Given the description of an element on the screen output the (x, y) to click on. 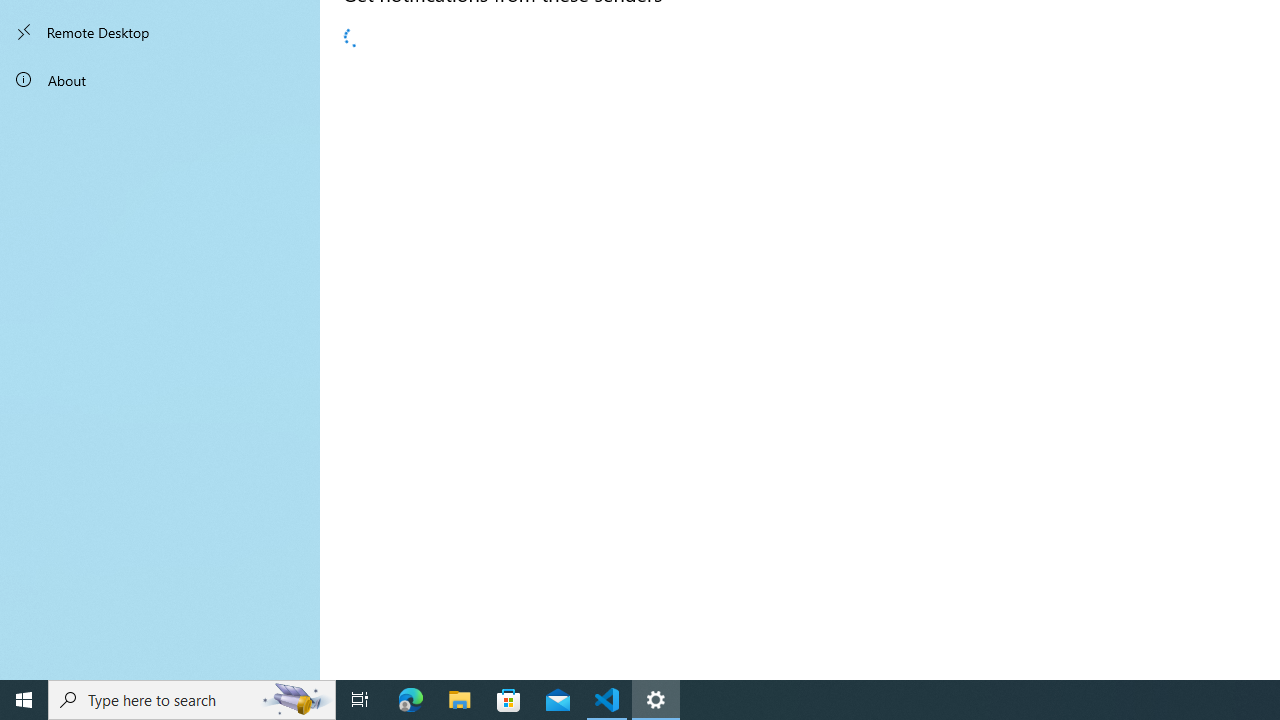
Remote Desktop (160, 31)
Feedback Hub (561, 312)
Input Switch Notification (561, 631)
Settings (561, 471)
Sort by: Most recent (416, 105)
Weather (561, 151)
